Given the description of an element on the screen output the (x, y) to click on. 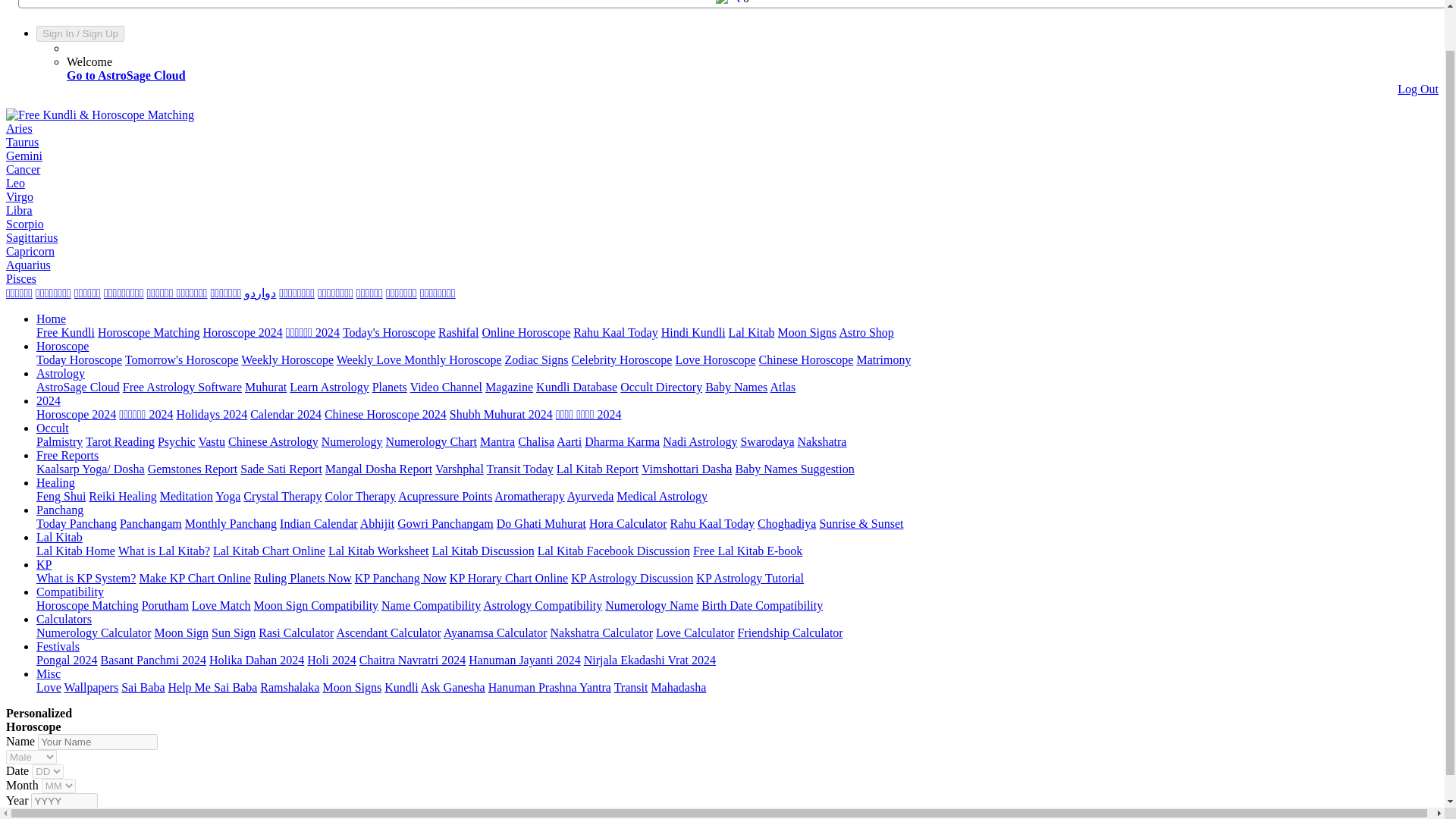
Go to AstroSage Cloud (126, 74)
Sagittarius (31, 237)
Punjabi (437, 292)
Tamil (18, 292)
Gujarati (123, 292)
Libra (18, 210)
Nepali (335, 292)
Hindi (296, 292)
Capricorn (30, 250)
Gemini (23, 155)
Sign In (58, 33)
Urdu (260, 292)
Malayalam (225, 292)
Scorpio (24, 223)
Bengali (192, 292)
